Given the description of an element on the screen output the (x, y) to click on. 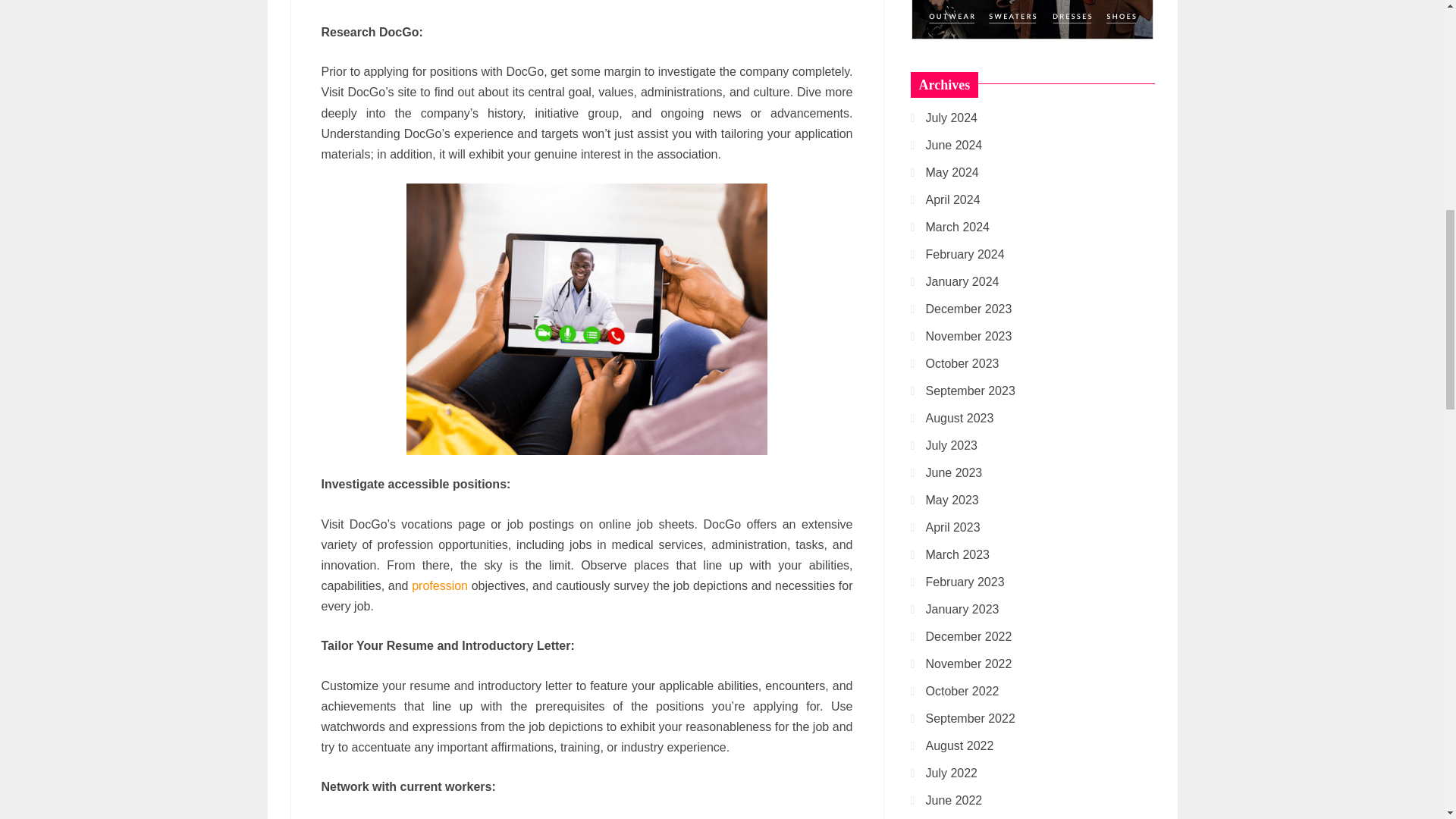
profession (439, 585)
